Given the description of an element on the screen output the (x, y) to click on. 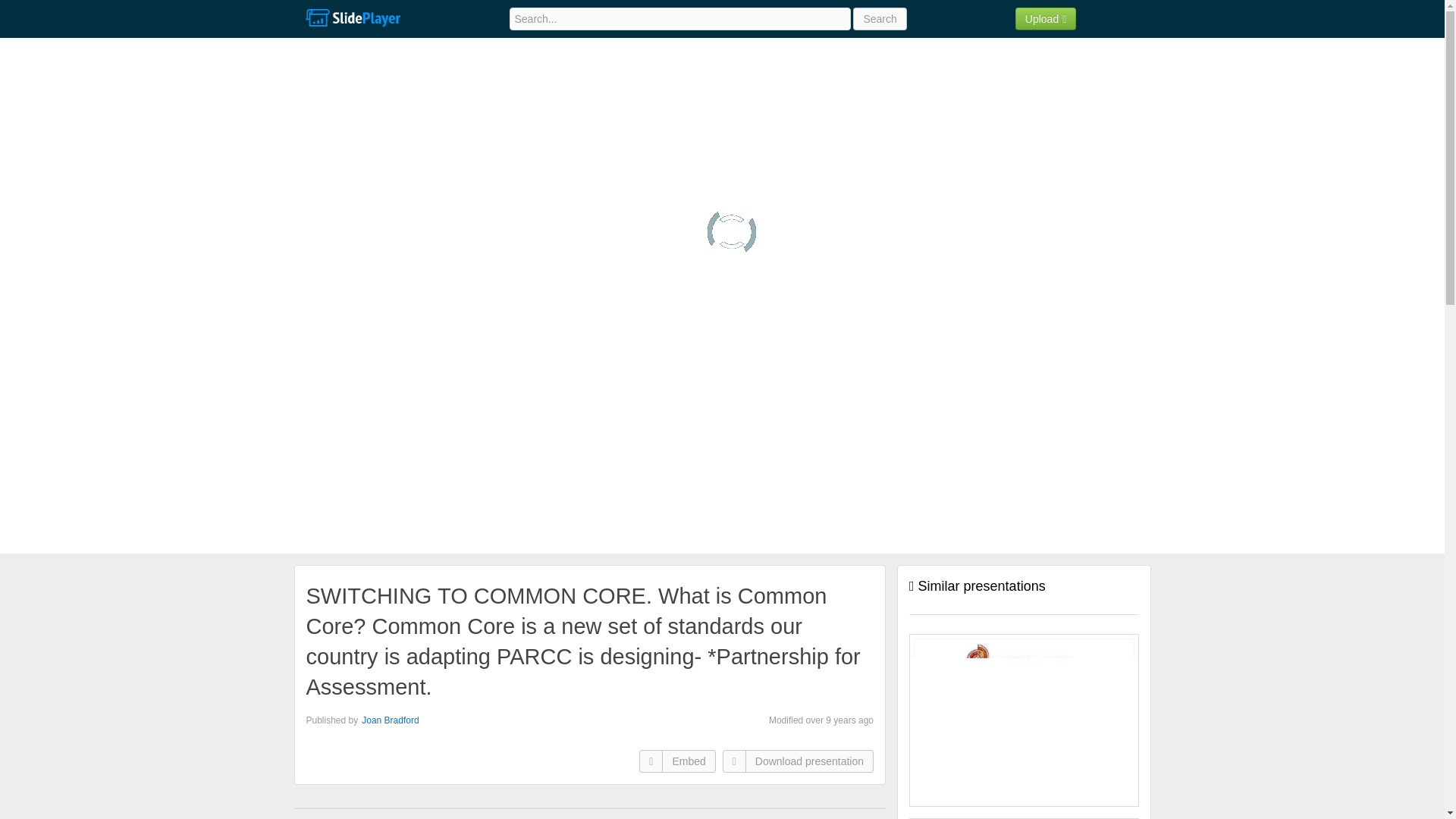
Presentation is loading. Please wait. (731, 232)
Joan Bradford (390, 719)
Upload (1045, 18)
Search (879, 18)
SlidePlayer (352, 18)
